Given the description of an element on the screen output the (x, y) to click on. 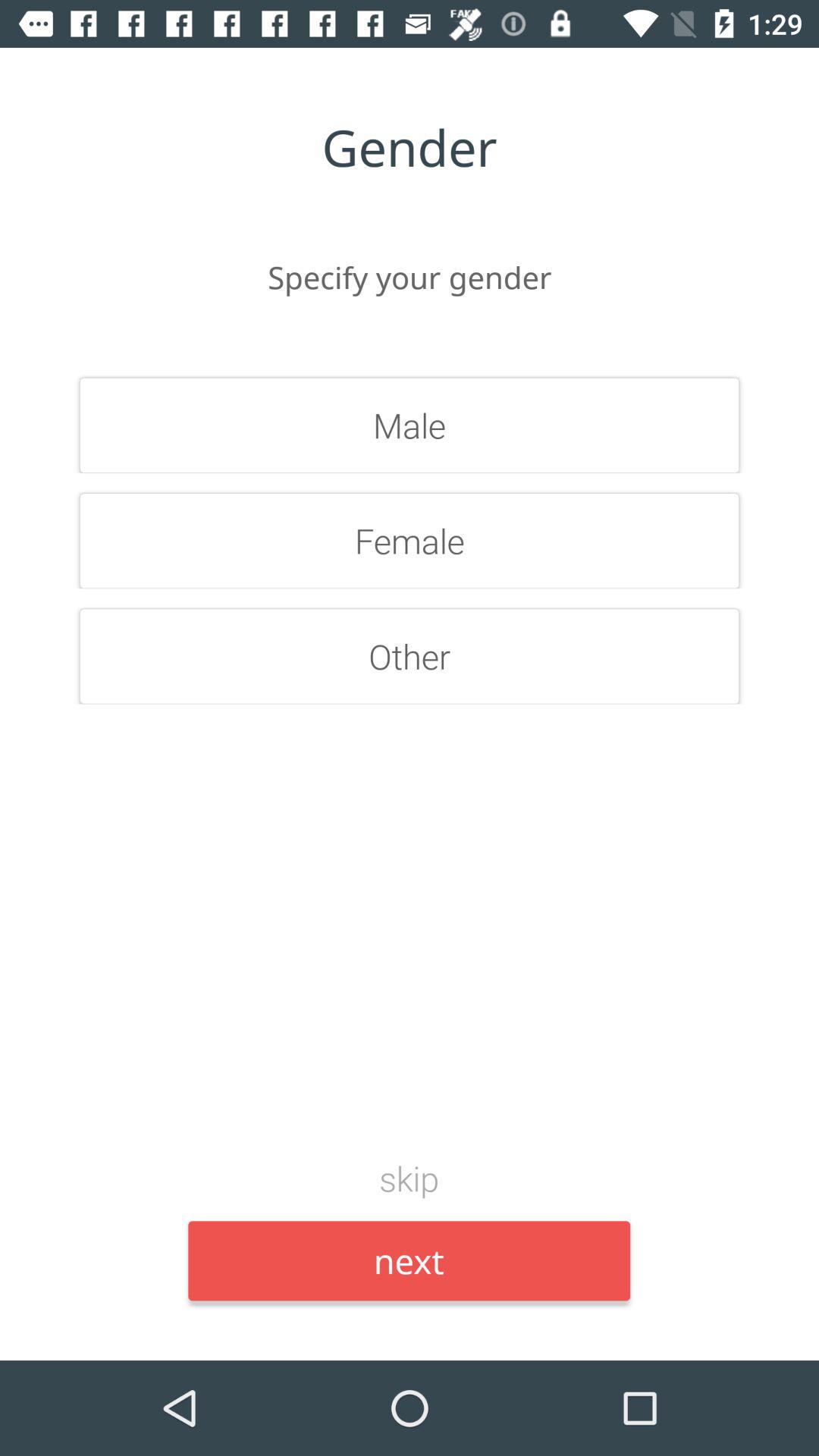
turn off the item above female icon (409, 425)
